Given the description of an element on the screen output the (x, y) to click on. 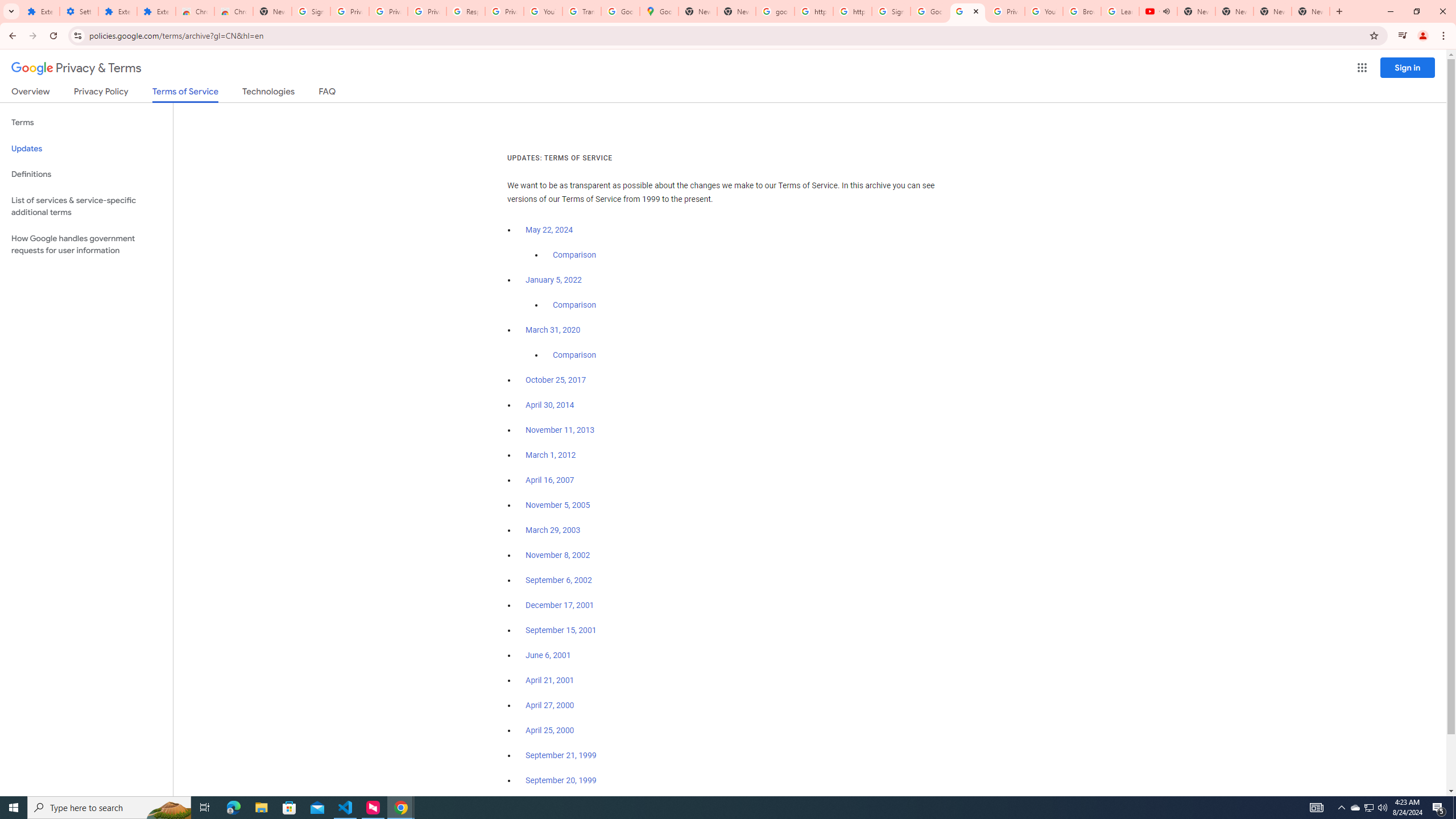
March 29, 2003 (552, 530)
List of services & service-specific additional terms (86, 206)
Sign in - Google Accounts (890, 11)
April 25, 2000 (550, 729)
September 21, 1999 (560, 755)
New Tab (272, 11)
April 21, 2001 (550, 679)
